Given the description of an element on the screen output the (x, y) to click on. 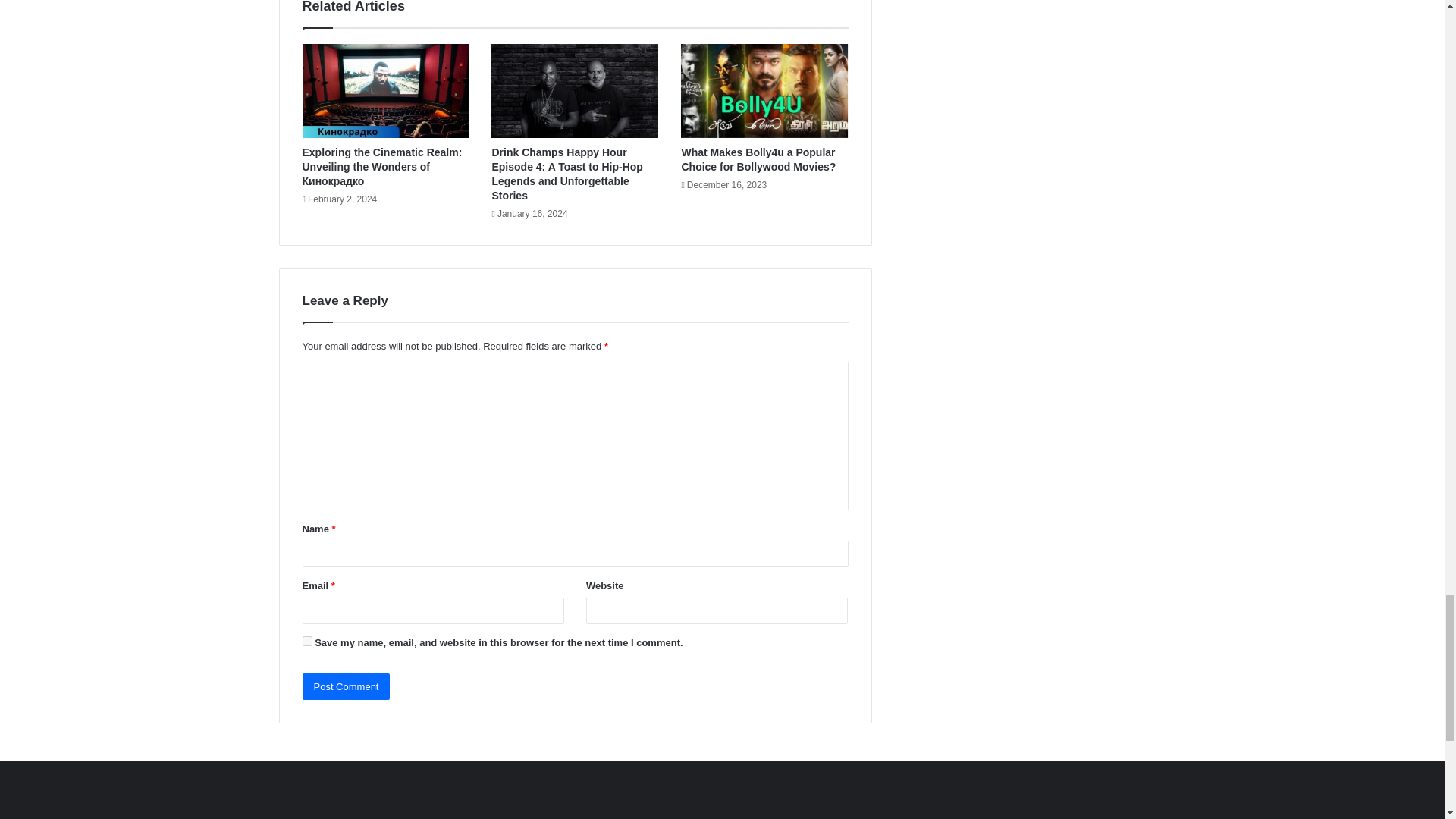
Post Comment (345, 686)
yes (306, 641)
